Given the description of an element on the screen output the (x, y) to click on. 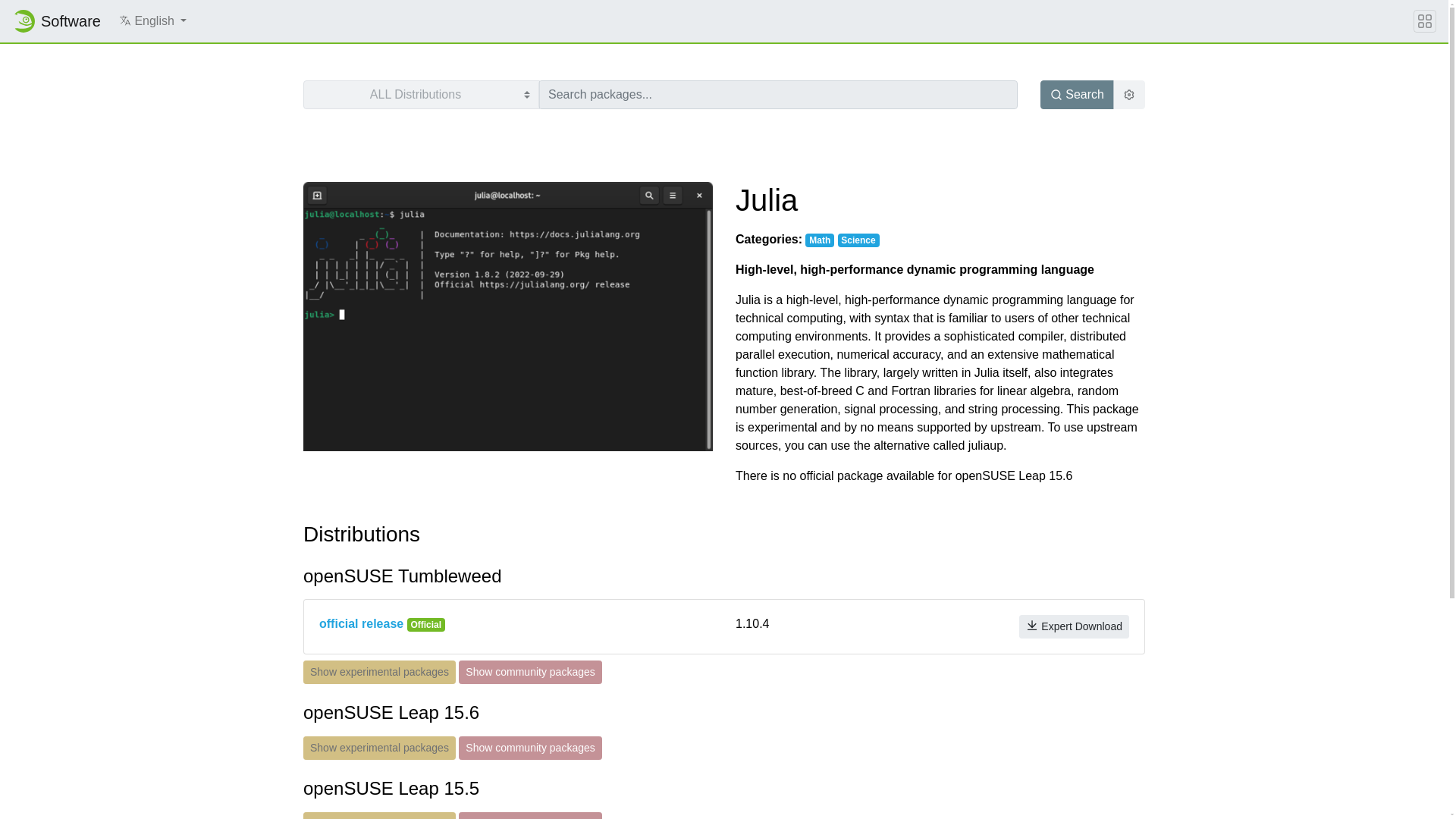
Software (55, 20)
Screenshot of julia (507, 315)
openSUSE (22, 20)
Choose Locale (125, 20)
Choose Locale English (152, 20)
Expand Megamenu (1424, 20)
